Given the description of an element on the screen output the (x, y) to click on. 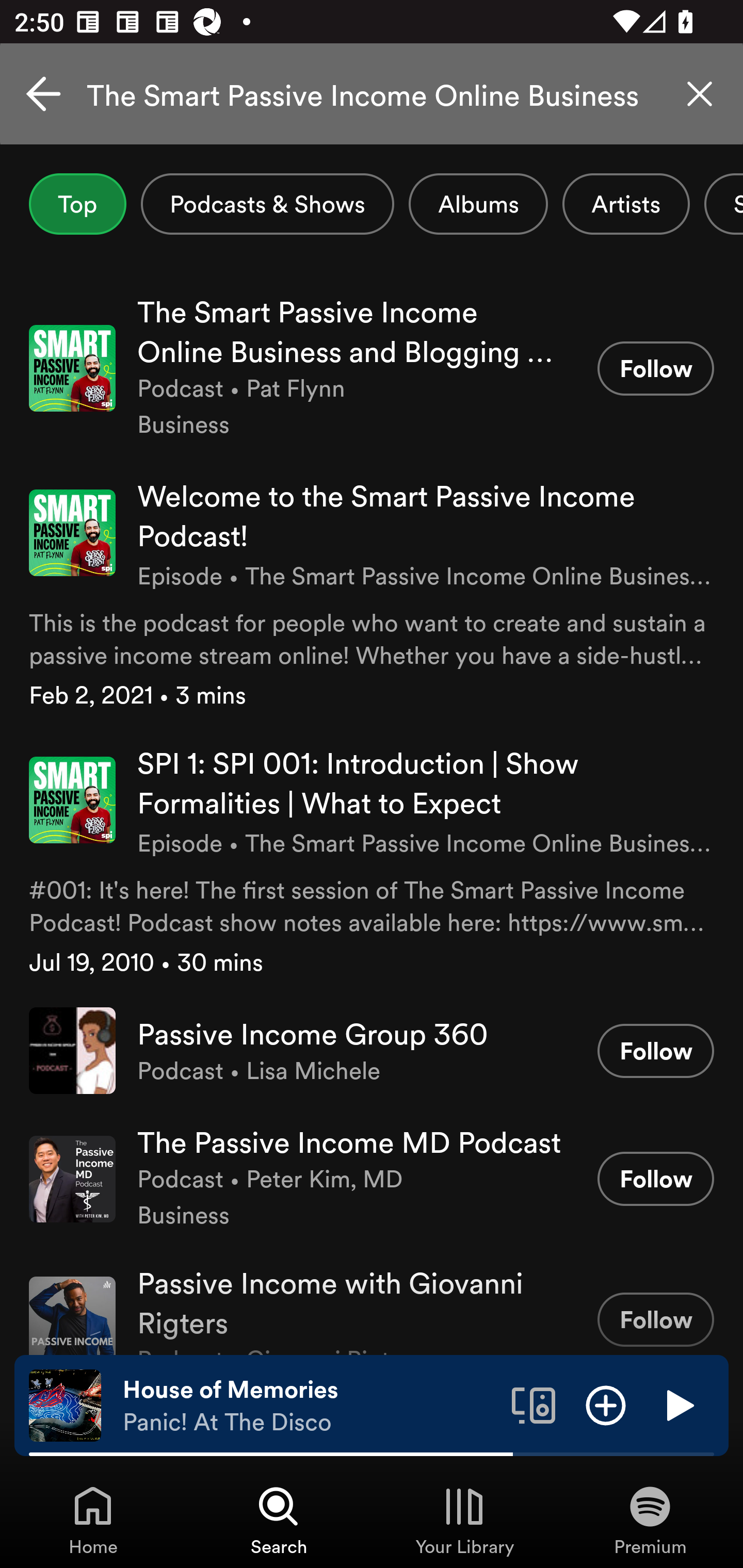
The Smart Passive Income Online Business (371, 93)
Cancel (43, 93)
Clear search query (699, 93)
Top (77, 203)
Podcasts & Shows (267, 203)
Albums (478, 203)
Artists (625, 203)
Follow (655, 368)
Follow (655, 1050)
Follow (655, 1178)
Follow (655, 1319)
House of Memories Panic! At The Disco (309, 1405)
The cover art of the currently playing track (64, 1404)
Connect to a device. Opens the devices menu (533, 1404)
Add item (605, 1404)
Play (677, 1404)
Home, Tab 1 of 4 Home Home (92, 1519)
Search, Tab 2 of 4 Search Search (278, 1519)
Your Library, Tab 3 of 4 Your Library Your Library (464, 1519)
Premium, Tab 4 of 4 Premium Premium (650, 1519)
